Given the description of an element on the screen output the (x, y) to click on. 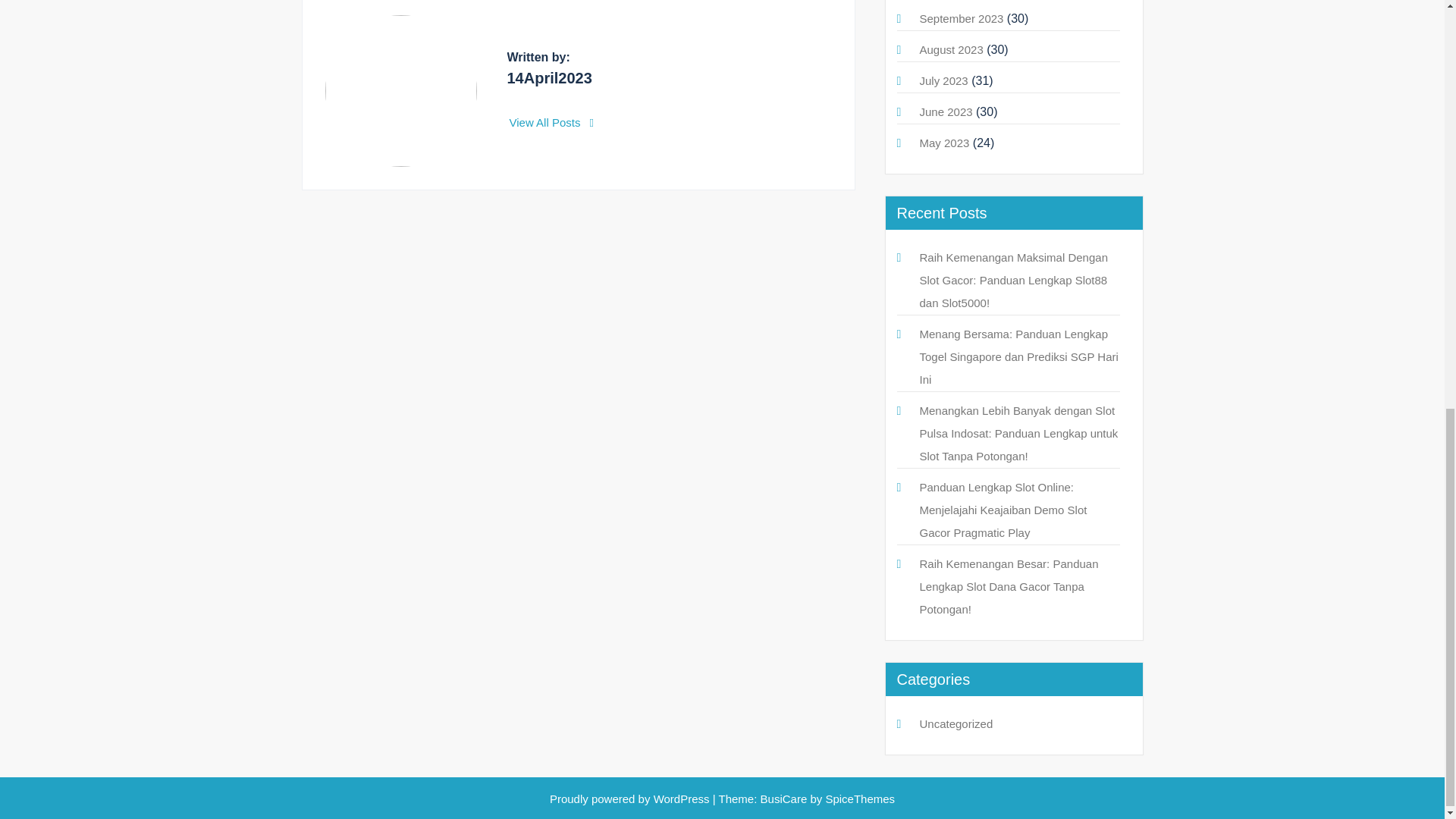
SpiceThemes (858, 798)
August 2023 (950, 49)
May 2023 (943, 142)
WordPress (681, 798)
June 2023 (945, 111)
BusiCare (785, 798)
Uncategorized (955, 723)
